Given the description of an element on the screen output the (x, y) to click on. 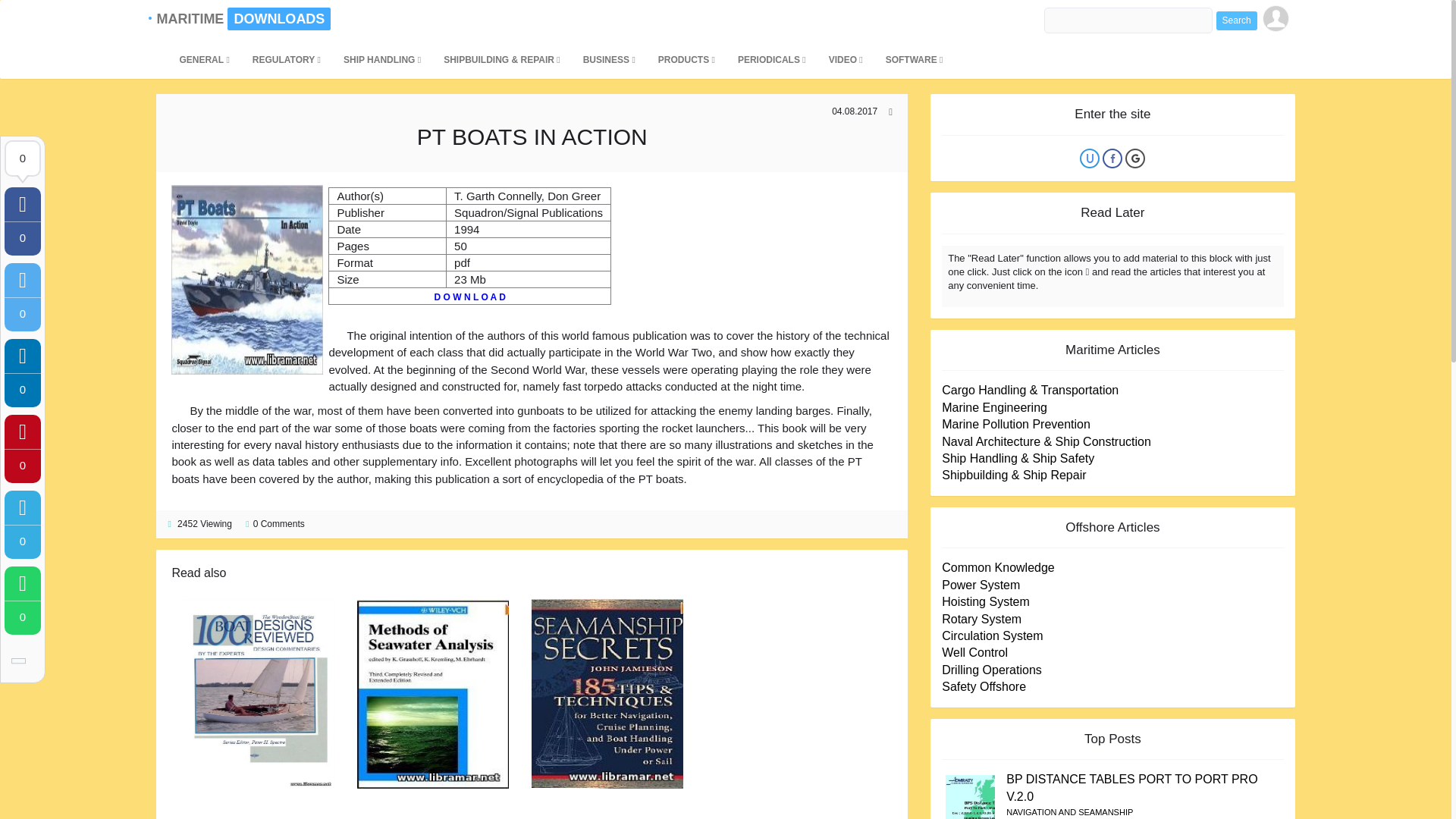
Search (1236, 20)
GENERAL (203, 59)
Log in with Facebook (1112, 158)
Log in with uID (1089, 158)
SHIP HANDLING (381, 59)
Log in with Google (1134, 158)
Search (1236, 20)
NAVIGATION AND SEAMANSHIP (1069, 811)
Search (1236, 20)
REGULATORY (286, 59)
MARITIMEDOWNLOADS (192, 18)
BP DISTANCE TABLES PORT TO PORT PRO V.2.0 (1131, 787)
